Given the description of an element on the screen output the (x, y) to click on. 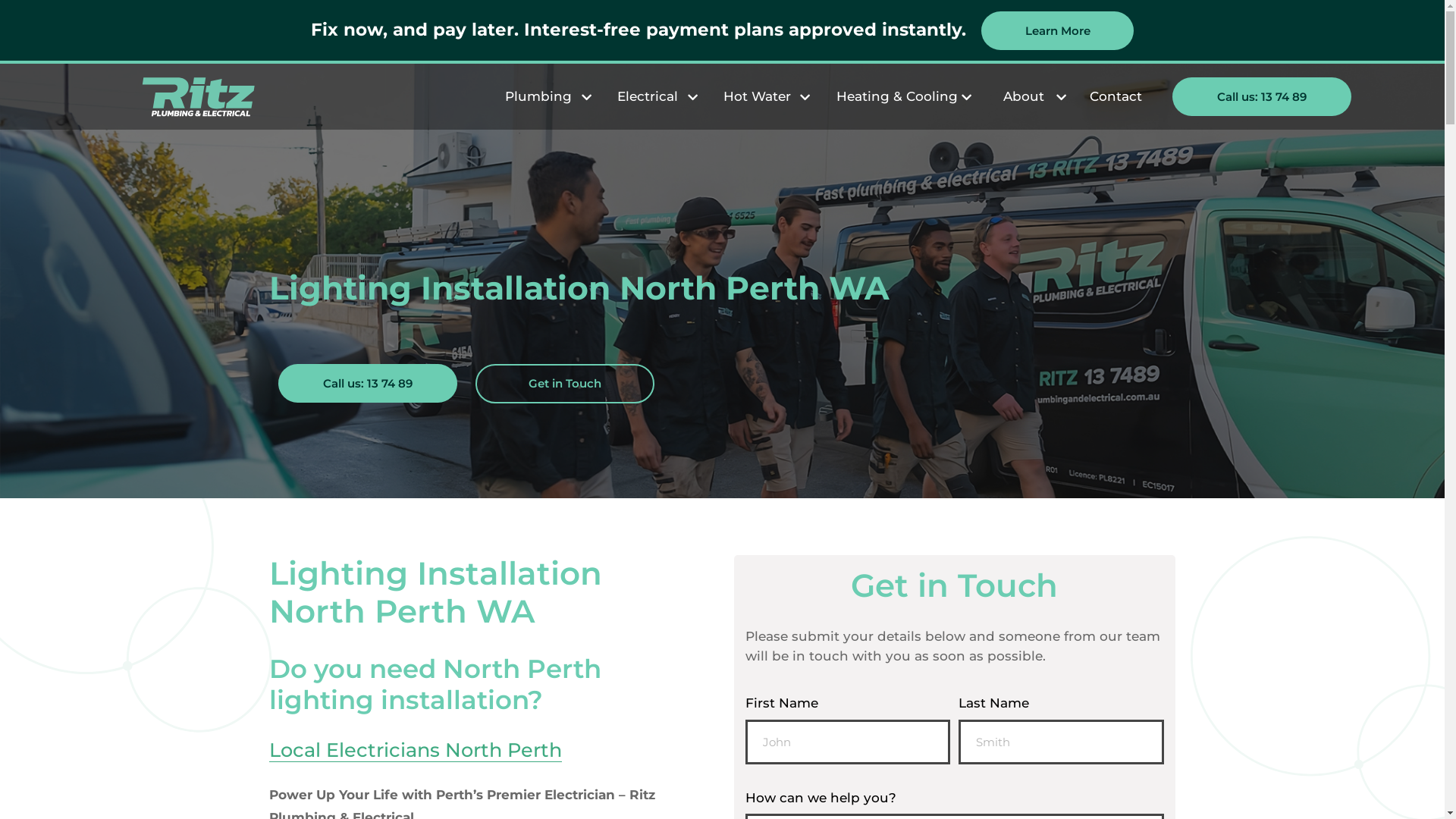
Local Electricians North Perth Element type: text (415, 749)
About Element type: text (1023, 96)
Call us: 13 74 89 Element type: text (367, 383)
Call us: 13 74 89 Element type: text (1261, 96)
Get in Touch Element type: text (564, 383)
Hot Water Element type: text (756, 96)
Contact Element type: text (1115, 96)
Heating & Cooling Element type: text (896, 96)
Plumbing Element type: text (538, 96)
Learn More Element type: text (1056, 29)
Electrical Element type: text (647, 96)
